Given the description of an element on the screen output the (x, y) to click on. 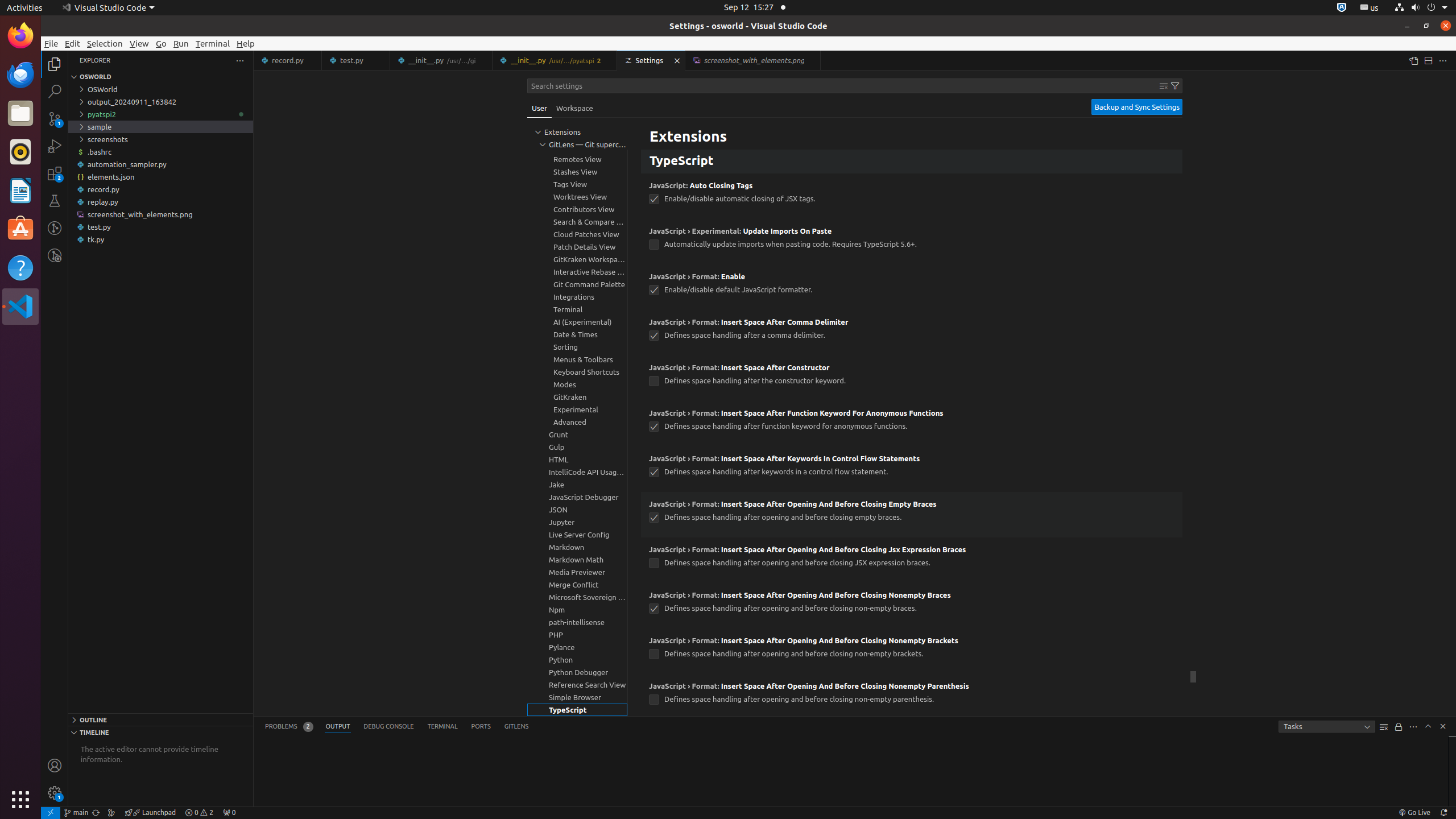
javascript.format.insertSpaceAfterOpeningAndBeforeClosingJsxExpressionBraces Element type: check-box (653, 562)
User Element type: check-box (539, 107)
output_20240911_163842 Element type: tree-item (160, 101)
Notifications Element type: push-button (1443, 812)
JavaScript Auto Closing Tags. Enable/disable automatic closing of JSX tags.  Element type: tree-item (911, 195)
